Given the description of an element on the screen output the (x, y) to click on. 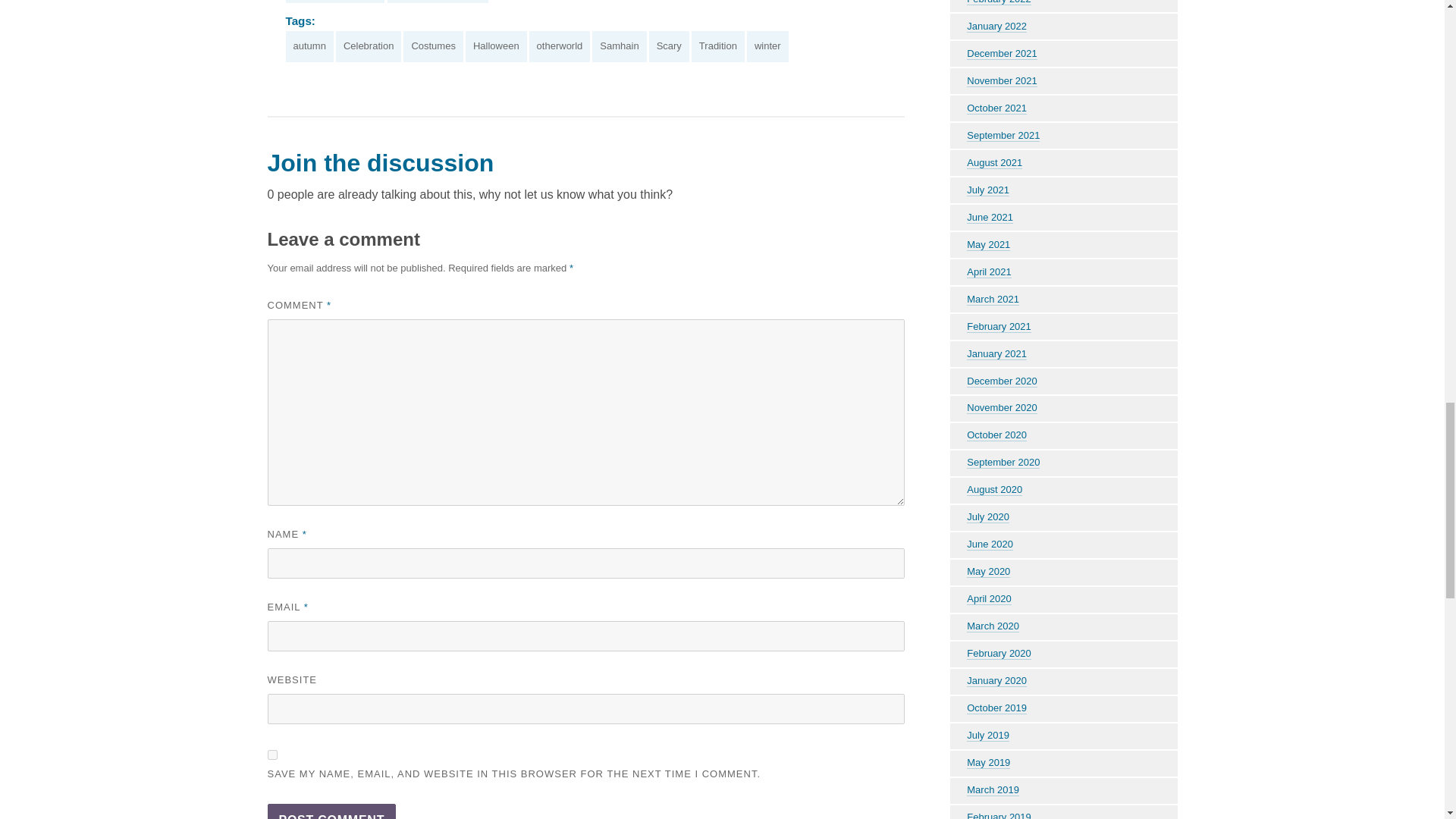
Celebration (368, 46)
autumn (309, 46)
Tradition (717, 46)
winter (767, 46)
Scary (668, 46)
Samhain (619, 46)
Annual Celebration (334, 1)
otherworld (560, 46)
Posts About History (437, 1)
Post Comment (331, 811)
Halloween (496, 46)
Costumes (433, 46)
Post Comment (331, 811)
yes (271, 755)
